Given the description of an element on the screen output the (x, y) to click on. 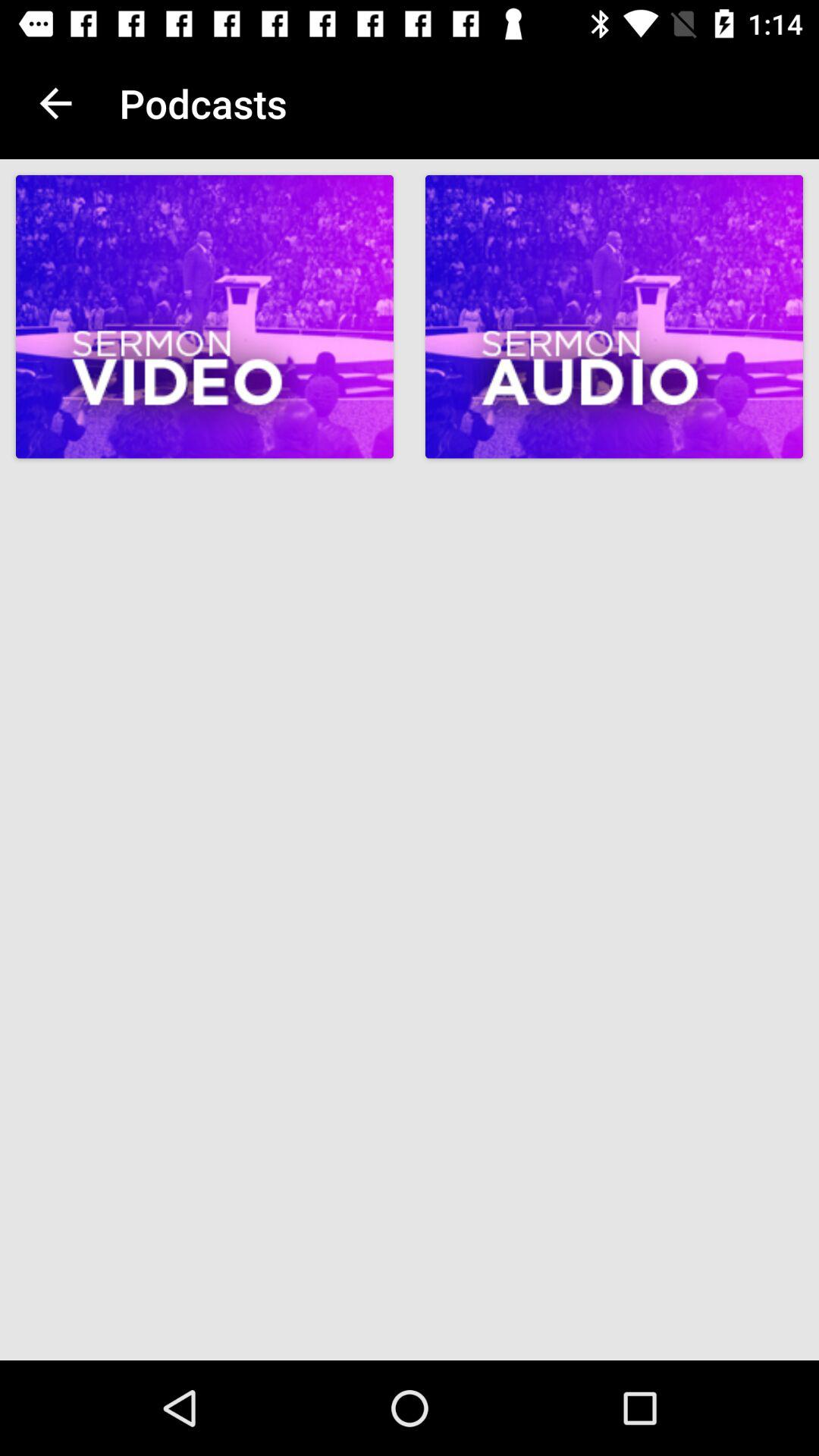
choose icon to the left of podcasts item (55, 103)
